Given the description of an element on the screen output the (x, y) to click on. 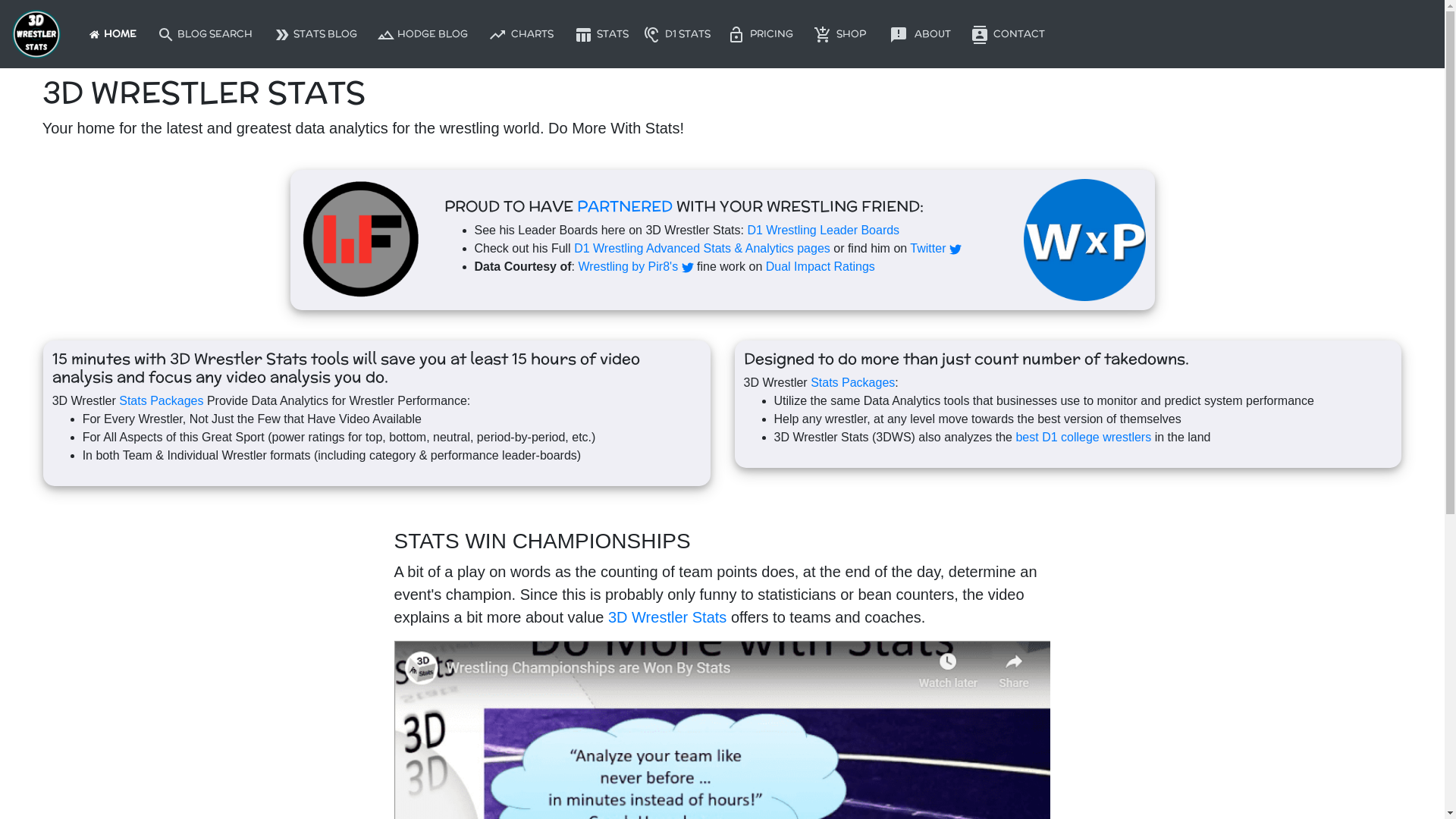
best D1 college wrestlers Element type: text (1083, 436)
  HOME Element type: text (112, 33)
 CONTACT Element type: text (1007, 33)
 STATS BLOG Element type: text (315, 33)
D1 Wrestling Leader Boards Element type: text (822, 229)
 BLOG SEARCH Element type: text (204, 33)
3D Wrestler Stats Element type: text (667, 616)
 CHARTS Element type: text (520, 33)
Stats Packages Element type: text (852, 382)
  SHOP Element type: text (839, 33)
 STATS Element type: text (601, 33)
Dual Impact Ratings Element type: text (820, 266)
Stats Packages Element type: text (161, 400)
Twitter Element type: text (935, 247)
  D1 STATS Element type: text (676, 33)
 HODGE BLOG Element type: text (421, 33)
  PRICING Element type: text (760, 33)
Wrestling by Pir8's Element type: text (635, 266)
PARTNERED Element type: text (623, 205)
D1 Wrestling Advanced Stats & Analytics pages Element type: text (702, 247)
  ABOUT Element type: text (919, 33)
